Given the description of an element on the screen output the (x, y) to click on. 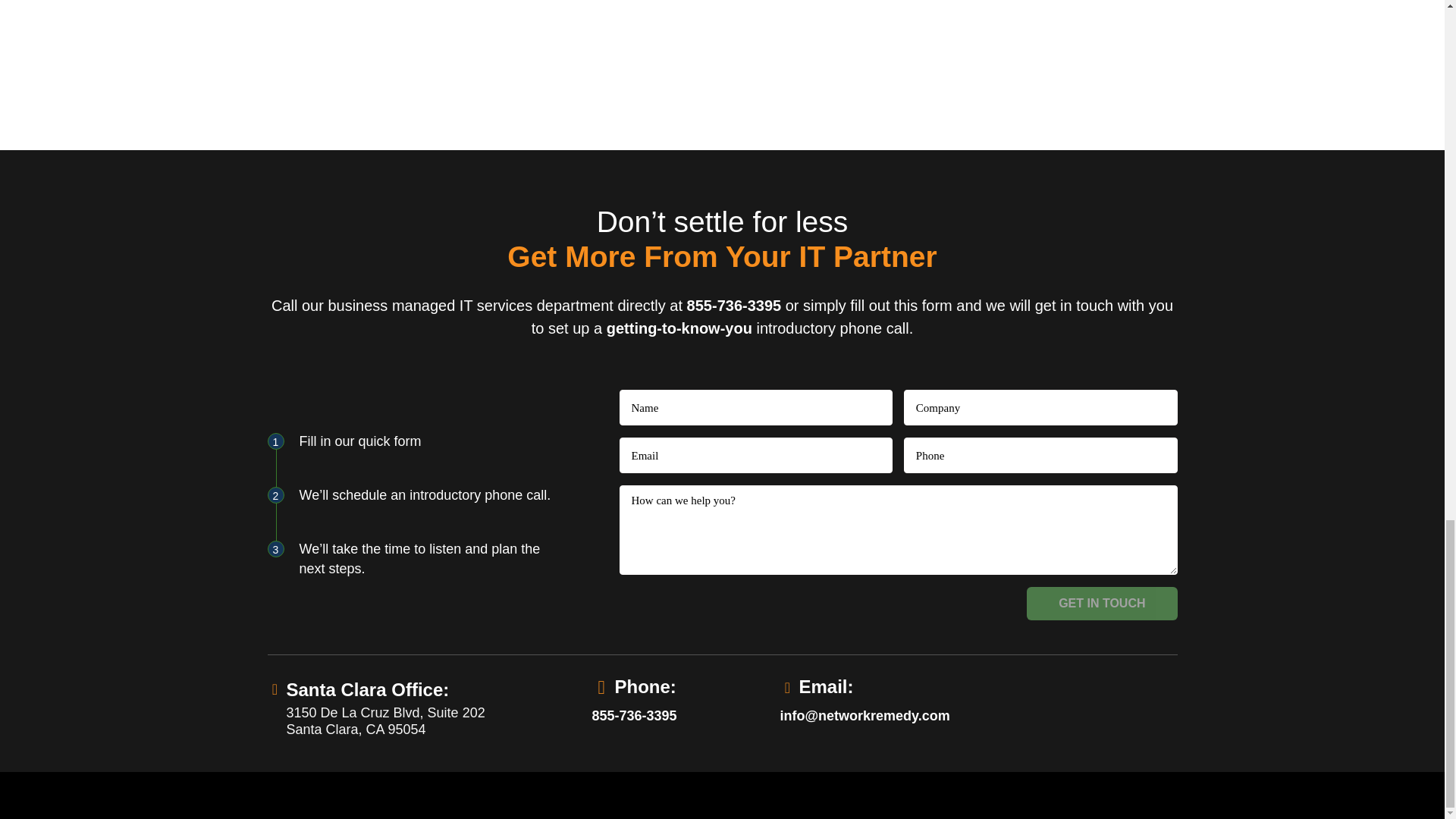
GET IN TOUCH (1101, 603)
